Given the description of an element on the screen output the (x, y) to click on. 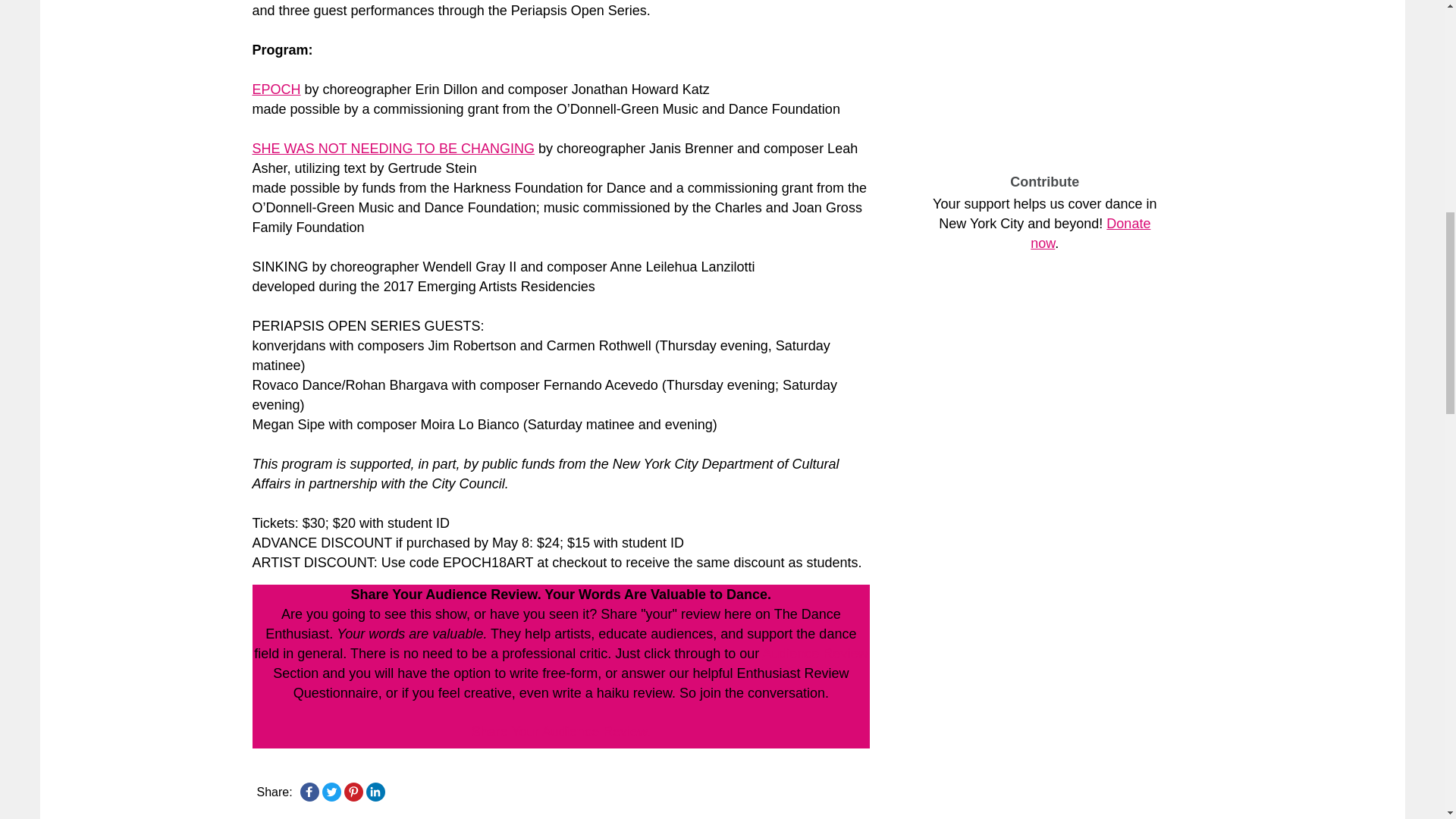
Pinterest (353, 791)
Twitter (331, 791)
Facebook (309, 791)
LinkedIn (375, 791)
